Given the description of an element on the screen output the (x, y) to click on. 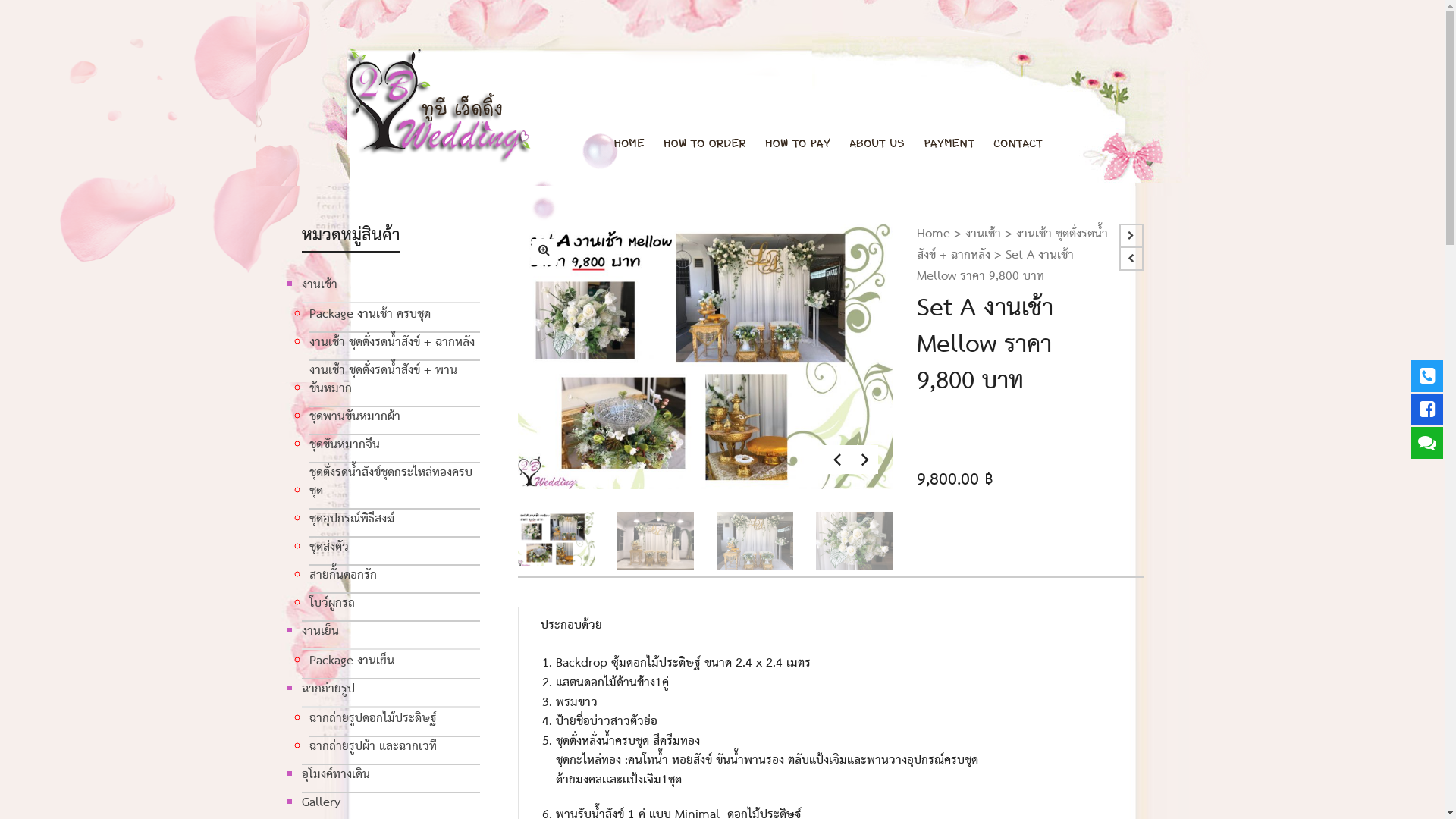
Home Element type: text (933, 233)
new23 Element type: hover (543, 251)
